Given the description of an element on the screen output the (x, y) to click on. 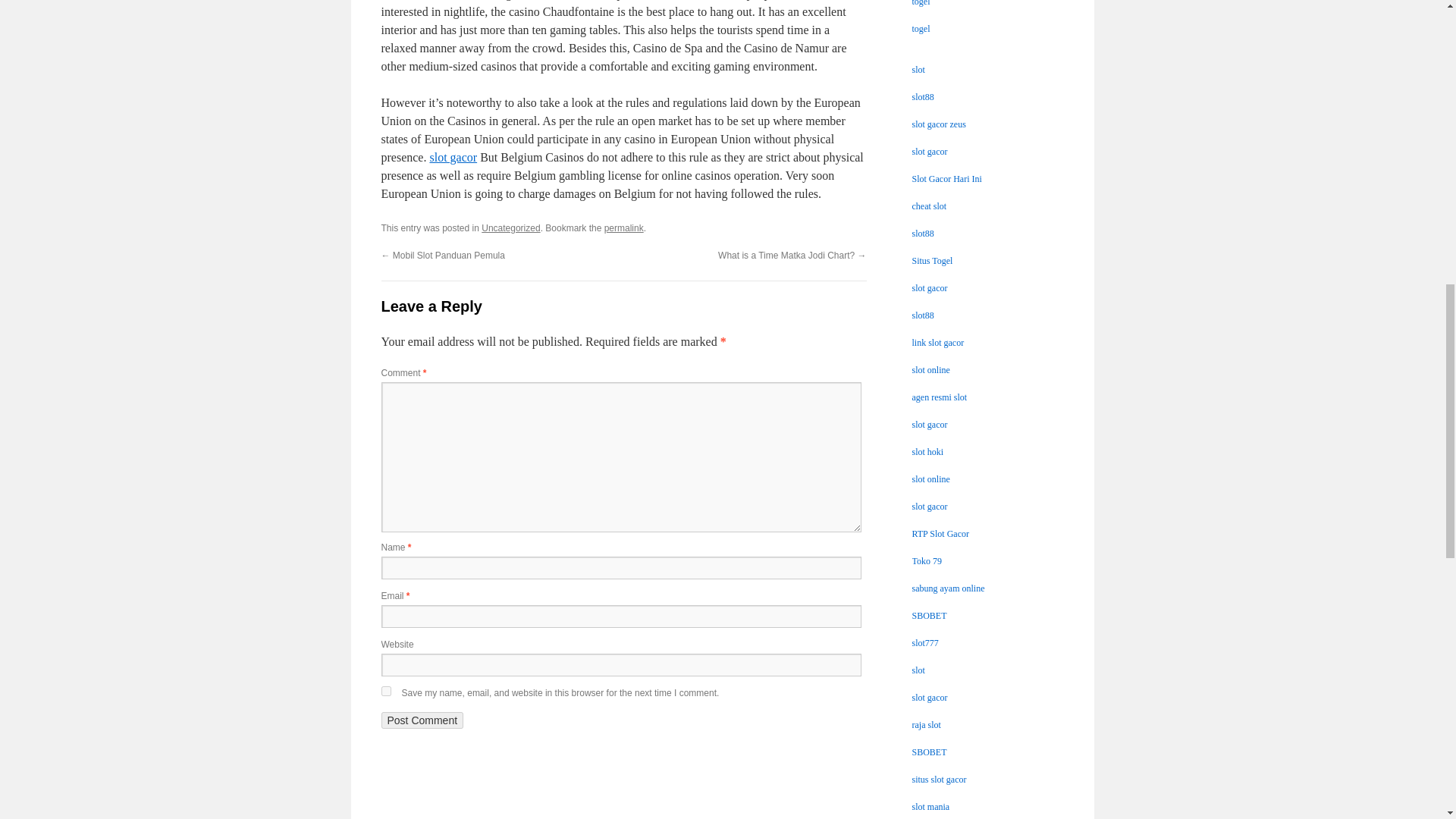
slot (917, 69)
Permalink to Specialties Of Belgium Casino (623, 227)
slot gacor (929, 151)
togel (920, 3)
slot gacor zeus (938, 123)
permalink (623, 227)
Post Comment (421, 719)
slot88 (922, 96)
cheat slot (928, 205)
Slot Gacor Hari Ini (946, 178)
Uncategorized (510, 227)
slot gacor (453, 156)
Post Comment (421, 719)
yes (385, 691)
togel (920, 28)
